Given the description of an element on the screen output the (x, y) to click on. 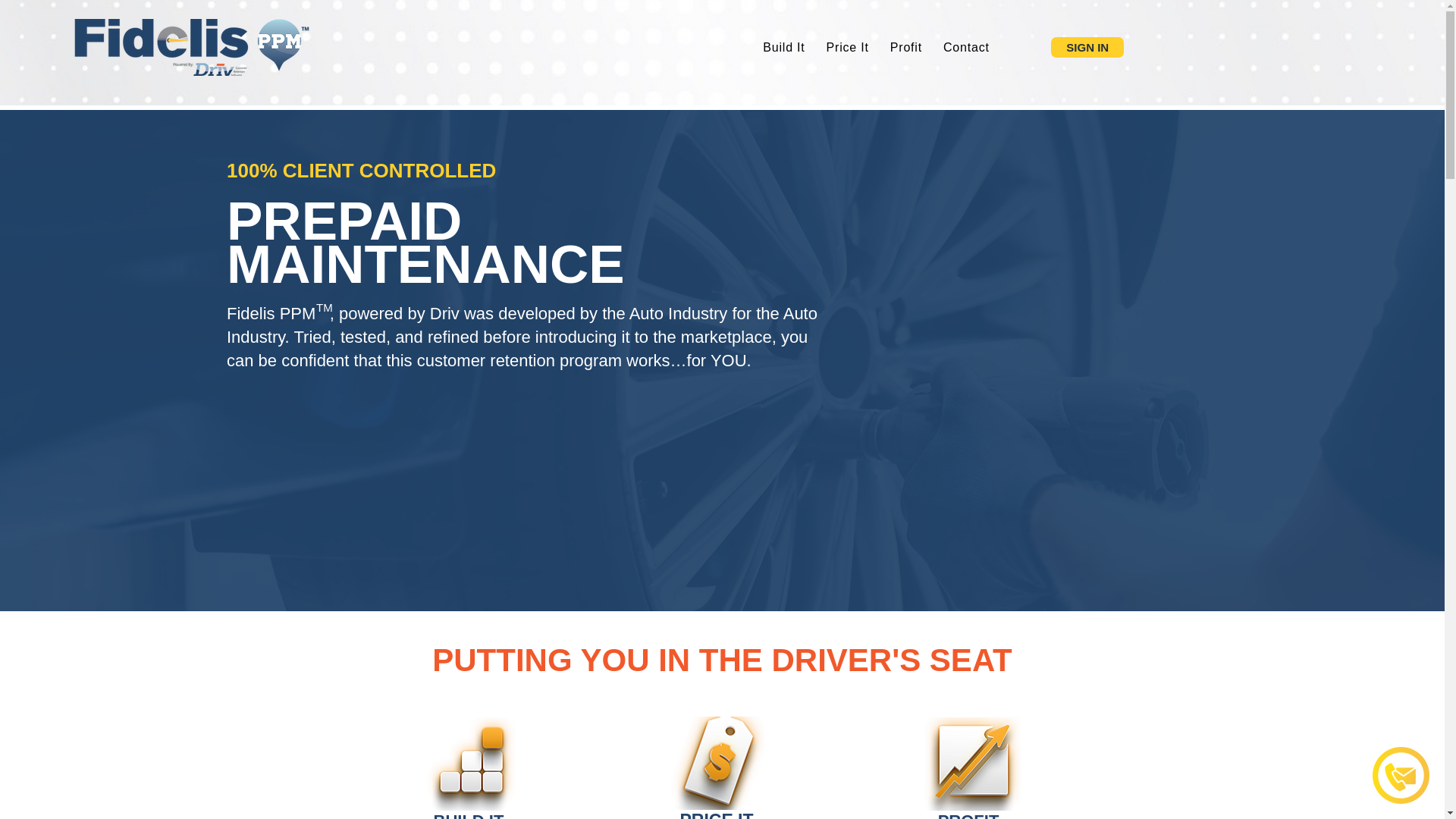
Articles (785, 45)
Contact (1043, 51)
Vero-800x800.png (1401, 774)
About (687, 51)
Vehicle Data Protection (795, 51)
Contact (966, 47)
Contact (908, 45)
ID Theft Protection (943, 51)
Profit (906, 47)
About (845, 45)
